Given the description of an element on the screen output the (x, y) to click on. 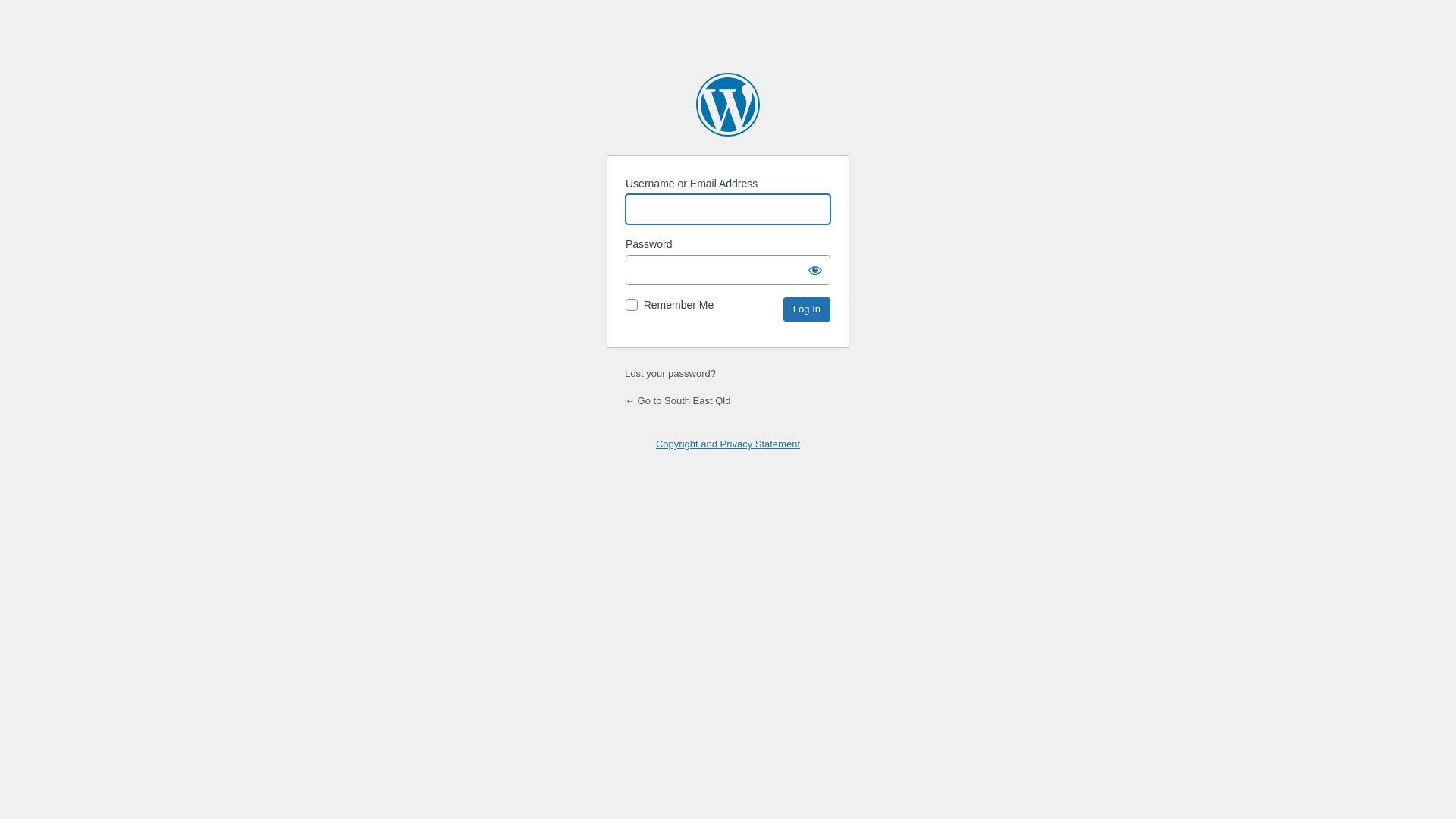
Lost your password? Element type: text (669, 373)
Powered by WordPress Element type: text (727, 104)
Log In Element type: text (806, 309)
Copyright and Privacy Statement Element type: text (727, 443)
